Given the description of an element on the screen output the (x, y) to click on. 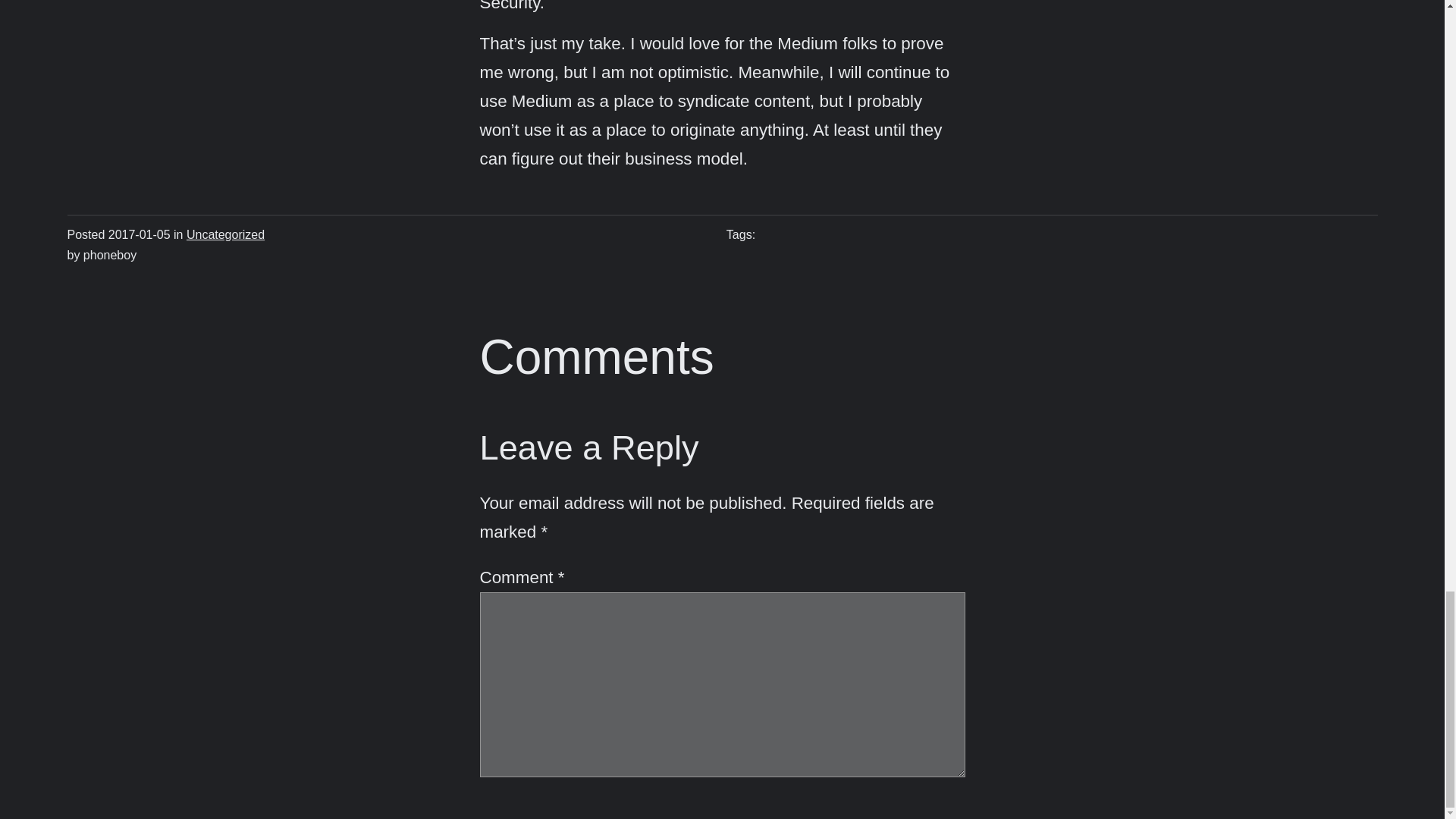
Uncategorized (225, 234)
